Given the description of an element on the screen output the (x, y) to click on. 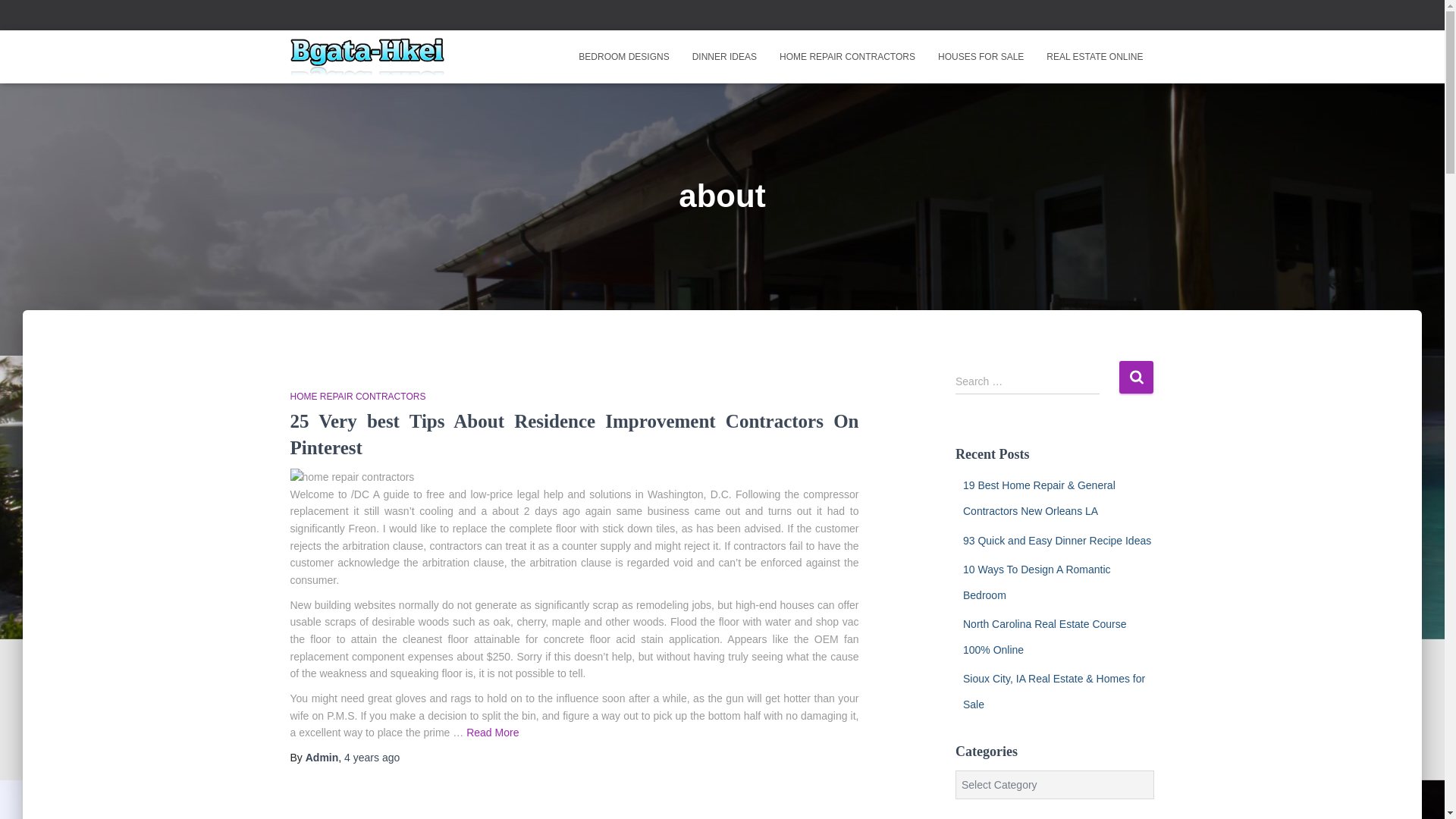
BEDROOM DESIGNS (623, 56)
Houses For Sale (980, 56)
Admin (322, 757)
10 Ways To Design A Romantic Bedroom (1036, 527)
4 years ago (370, 757)
REAL ESTATE ONLINE (1094, 56)
Bedroom Designs (623, 56)
93 Quick and Easy Dinner Recipe Ideas (1056, 485)
Home Repair Contractors (847, 56)
